Given the description of an element on the screen output the (x, y) to click on. 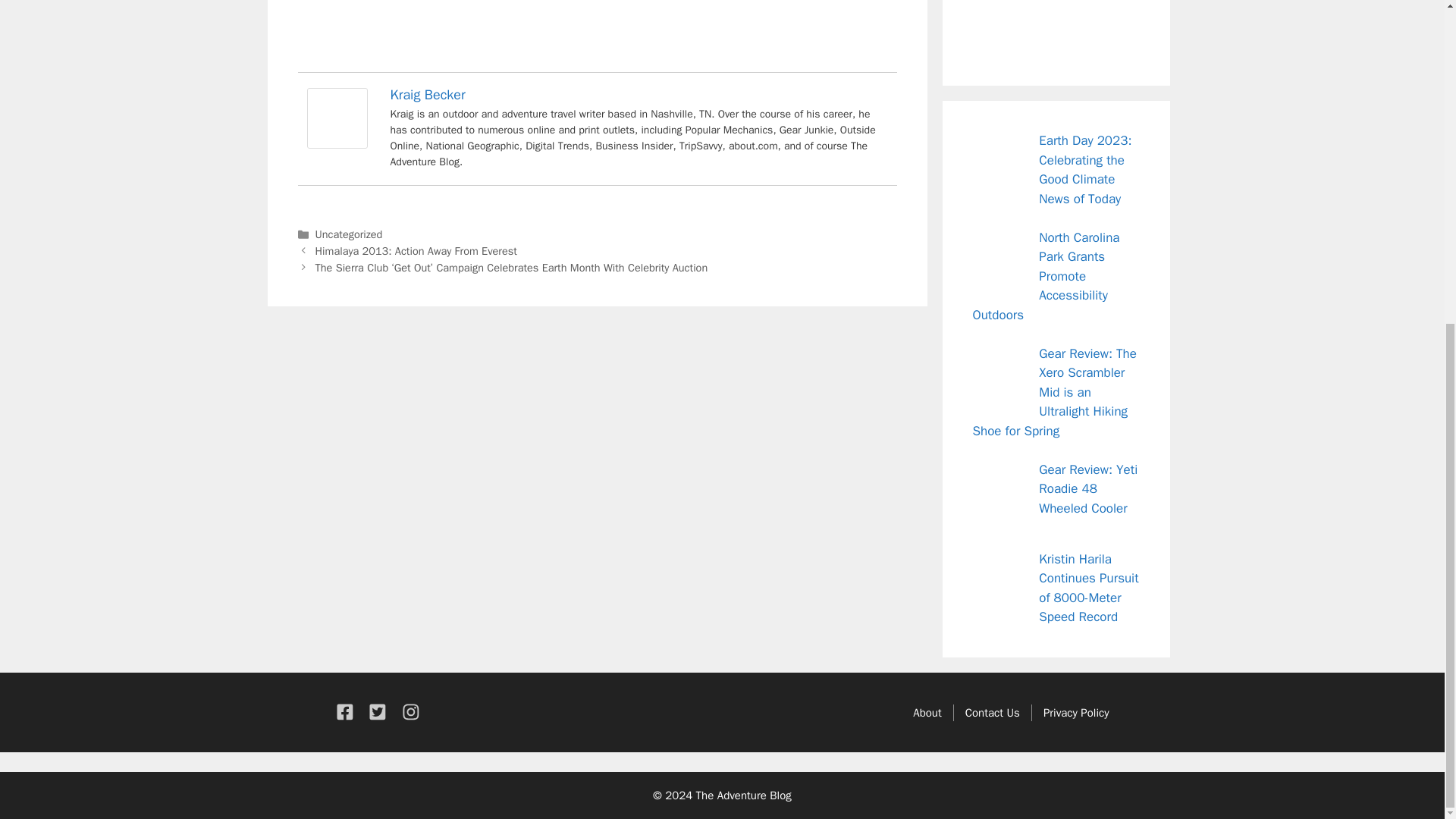
North Carolina Park Grants Promote Accessibility Outdoors (1045, 276)
Twitter (1025, 31)
Instagram (1058, 31)
Kraig Becker (335, 144)
Earth Day 2023: Celebrating the Good Climate News of Today (1085, 169)
Kraig Becker (427, 94)
Himalaya 2013: Action Away From Everest (415, 250)
Uncategorized (348, 233)
Facebook (990, 31)
